Given the description of an element on the screen output the (x, y) to click on. 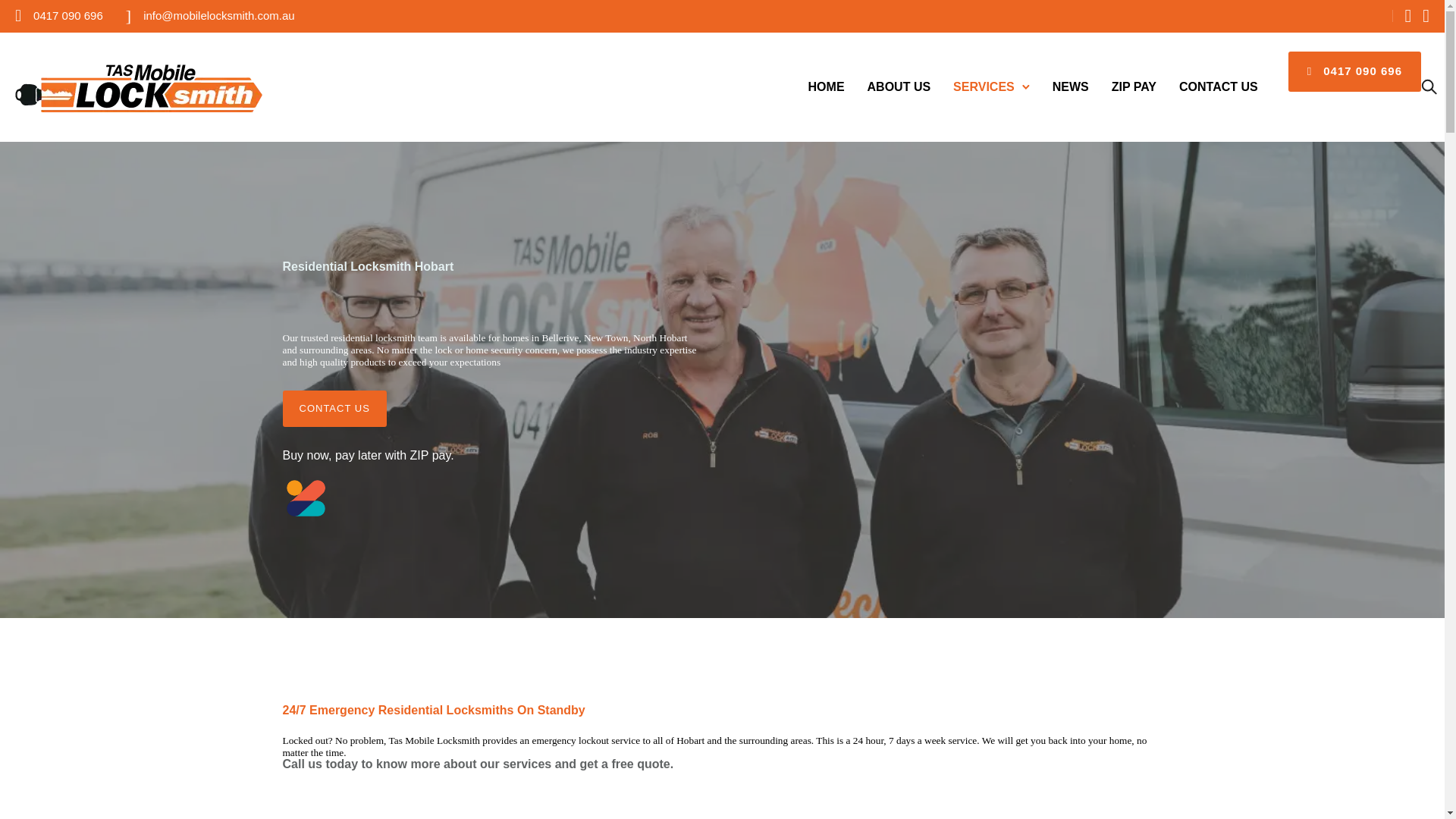
News (1070, 86)
ABOUT US (899, 86)
ZIP PAY (1133, 86)
CONTACT US (333, 408)
About Us (899, 86)
Zip Pay (1133, 86)
Services (983, 86)
NEWS (1070, 86)
SERVICES (983, 86)
0417 090 696 (68, 15)
Home (825, 86)
Contact Us (1218, 86)
HOME (825, 86)
CONTACT US (1218, 86)
0417 090 696 (1354, 71)
